Given the description of an element on the screen output the (x, y) to click on. 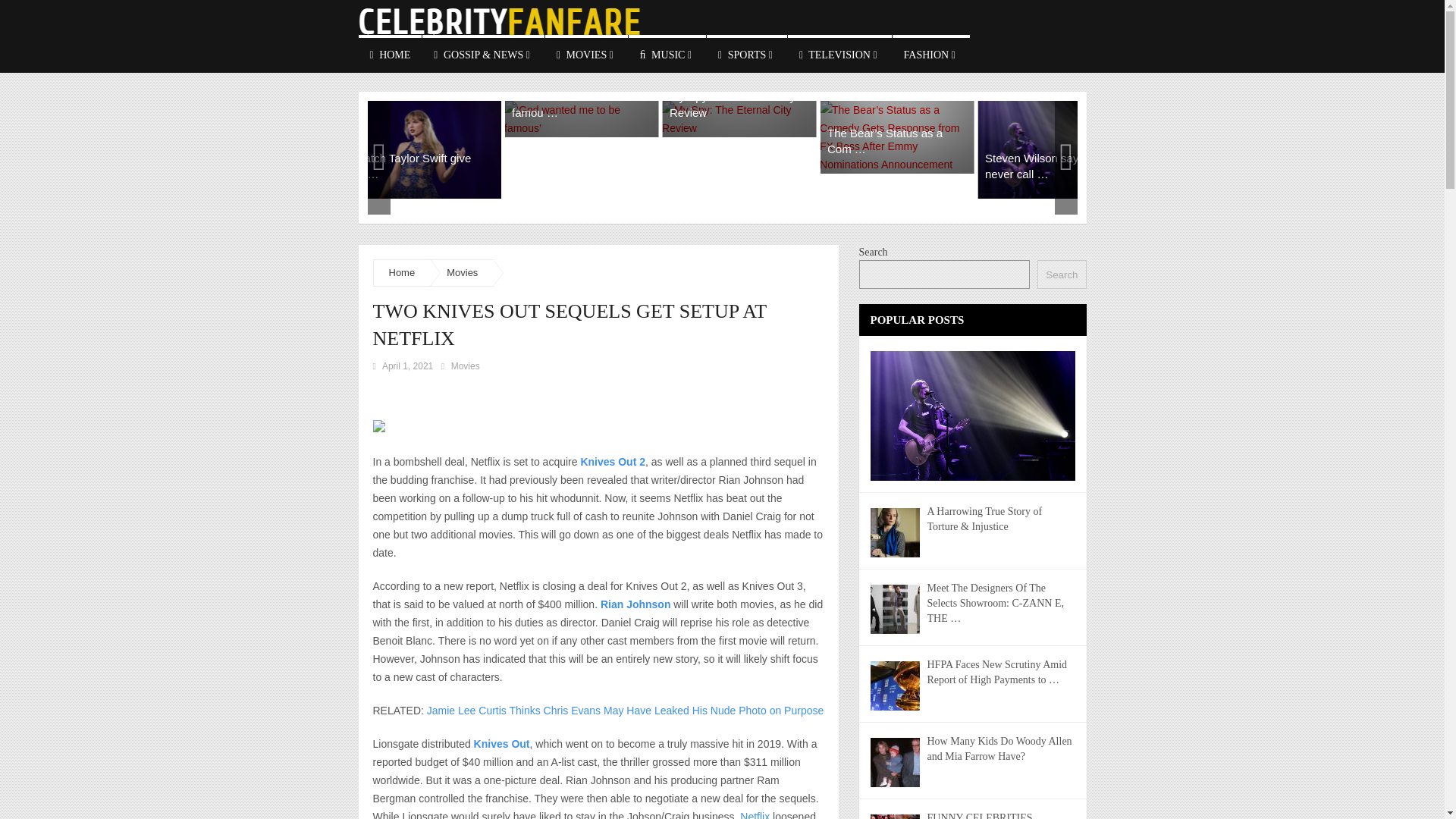
MUSIC (667, 53)
TELEVISION (839, 53)
FASHION (930, 53)
MOVIES (585, 53)
HOME (390, 53)
SPORTS (746, 53)
